Given the description of an element on the screen output the (x, y) to click on. 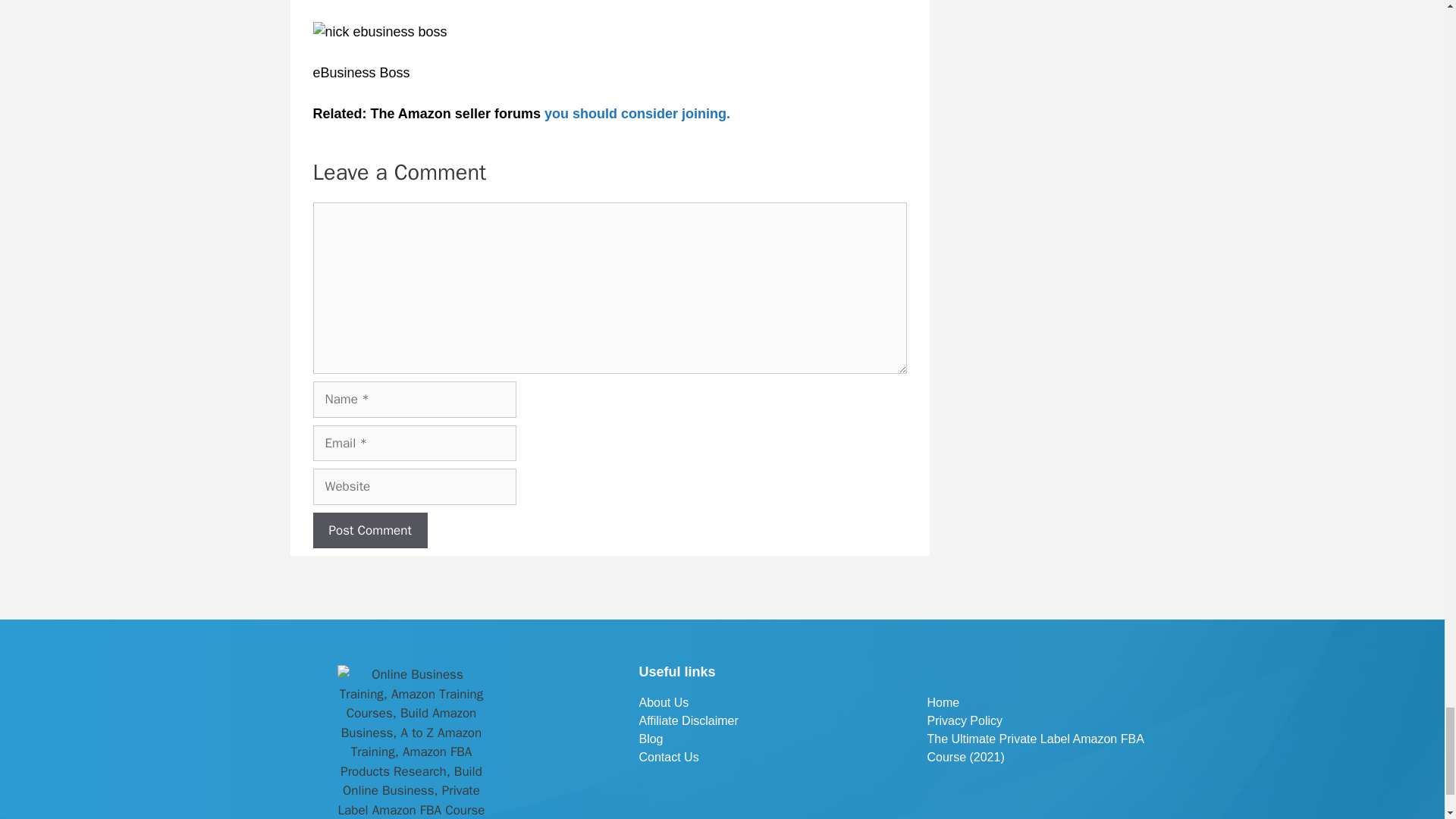
About Us (749, 702)
Post Comment (369, 530)
you should consider joining. (637, 113)
logo3 (410, 742)
Post Comment (369, 530)
